Given the description of an element on the screen output the (x, y) to click on. 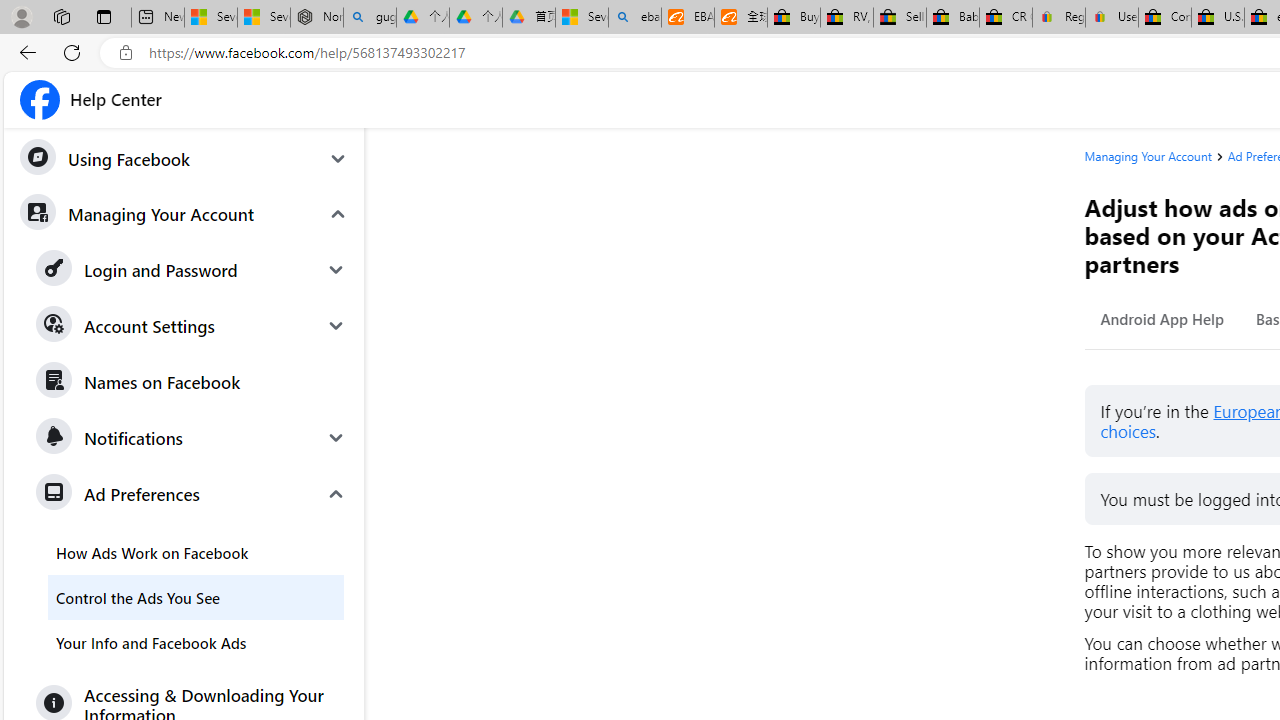
User Privacy Notice | eBay (1111, 17)
ebay - Search (634, 17)
